Given the description of an element on the screen output the (x, y) to click on. 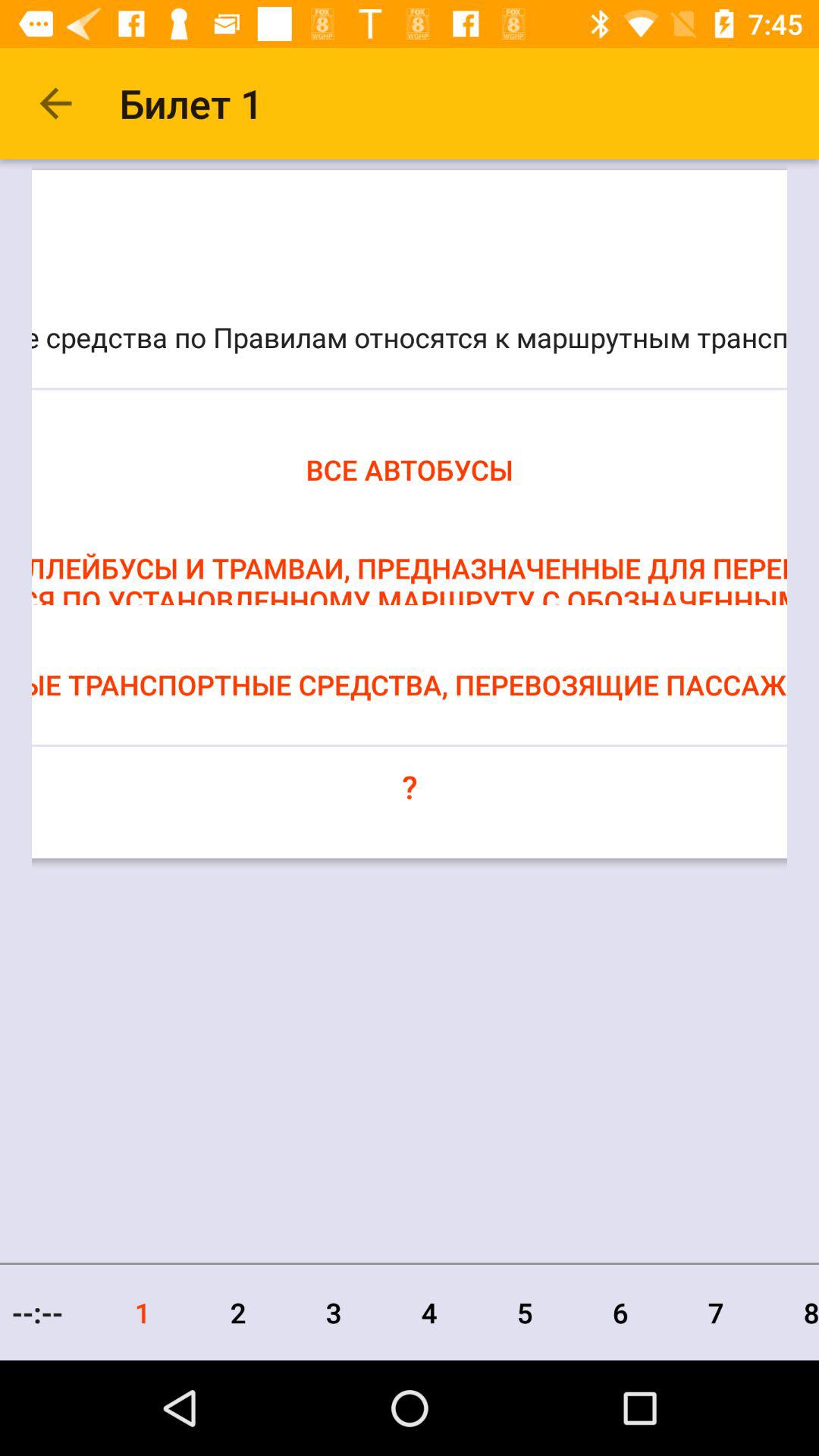
open icon to the left of the 7 item (620, 1312)
